Given the description of an element on the screen output the (x, y) to click on. 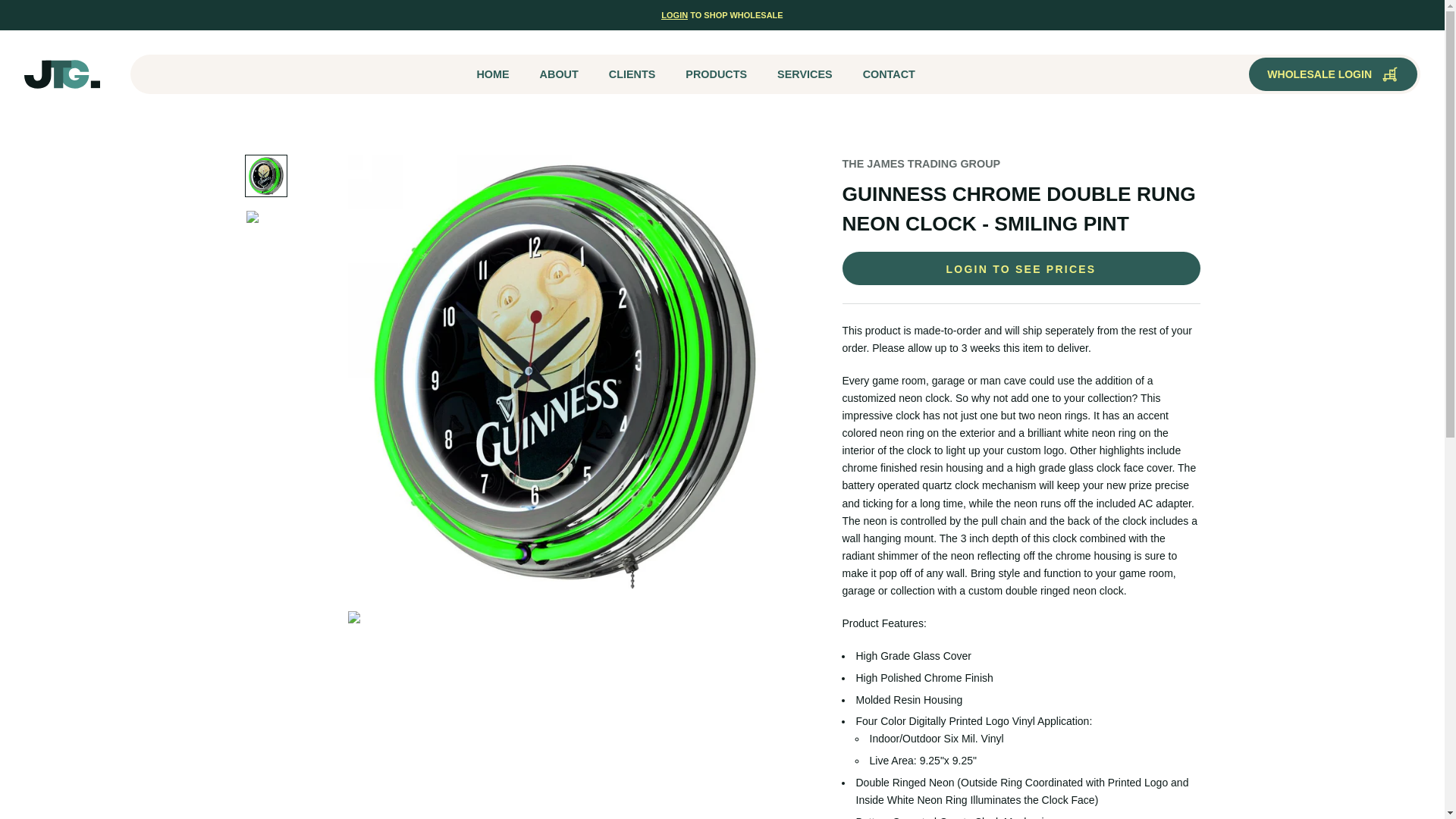
CLIENTS (632, 74)
LOGIN TO SEE PRICES (1020, 268)
ABOUT (559, 74)
SERVICES (804, 74)
CONTACT (889, 74)
PRODUCTS (715, 74)
The James Trading Group (62, 73)
HOME (492, 74)
WHOLESALE LOGIN (1332, 73)
THE JAMES TRADING GROUP (920, 163)
LOGIN (674, 14)
